Given the description of an element on the screen output the (x, y) to click on. 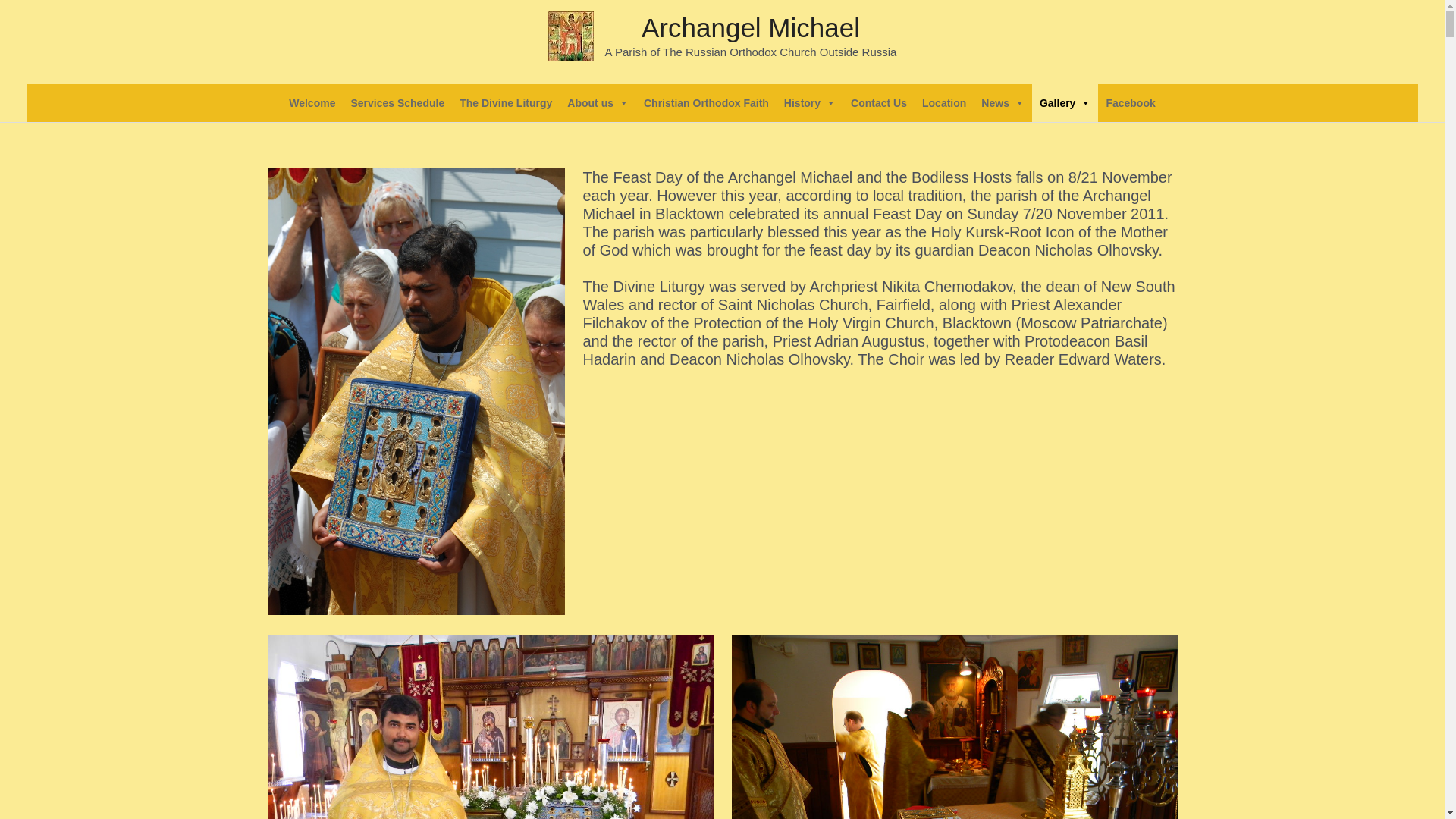
Location Element type: text (943, 103)
Archangel Michael Element type: text (750, 27)
Facebook Element type: text (1130, 103)
History Element type: text (809, 103)
News Element type: text (1002, 103)
About us Element type: text (597, 103)
Services Schedule Element type: text (396, 103)
Christian Orthodox Faith Element type: text (706, 103)
Gallery Element type: text (1065, 103)
The Divine Liturgy Element type: text (505, 103)
Contact Us Element type: text (878, 103)
Welcome Element type: text (311, 103)
